Given the description of an element on the screen output the (x, y) to click on. 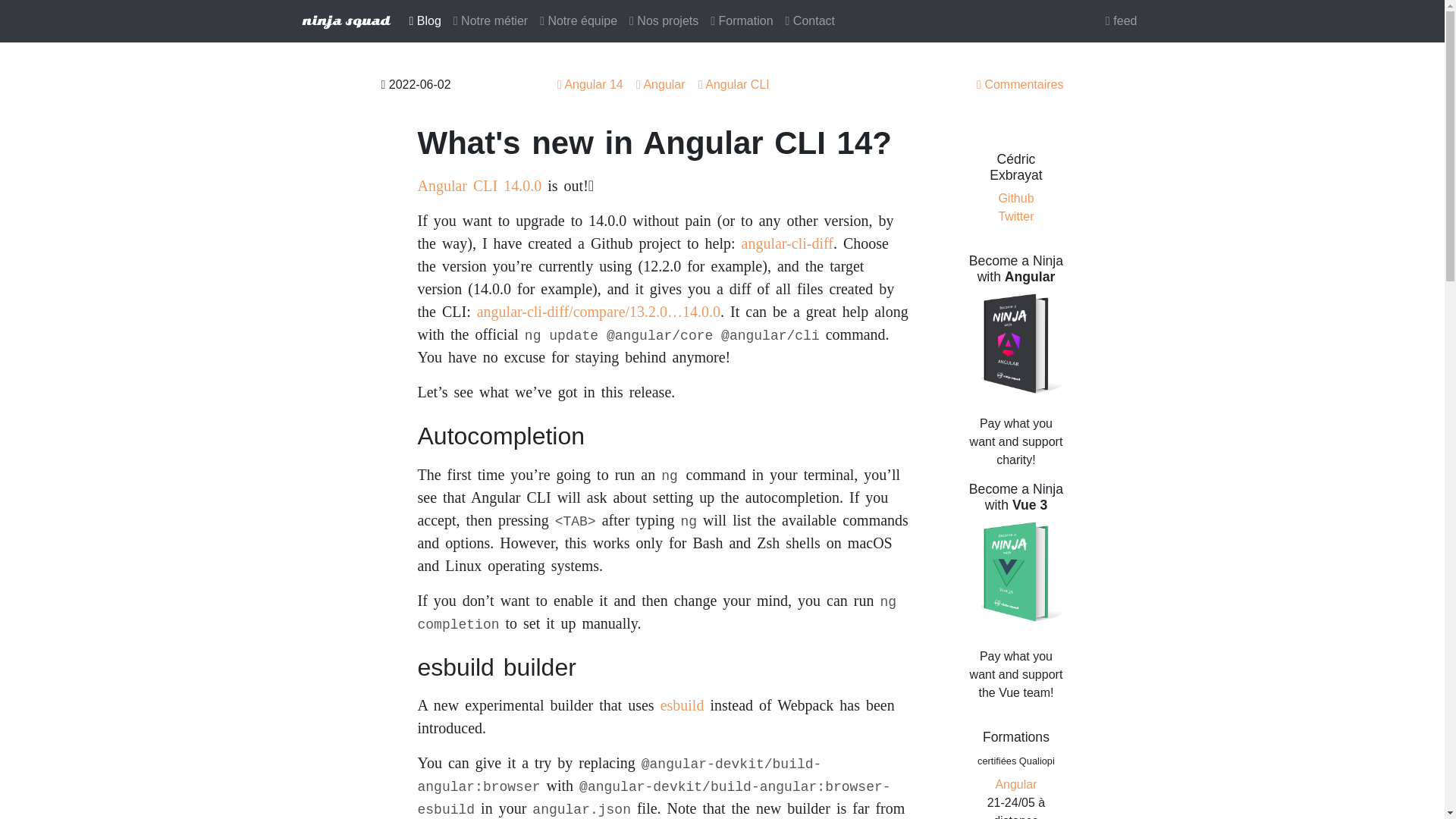
Atom feed (1120, 20)
 Angular CLI (734, 83)
angular-cli-diff (786, 243)
Formation (741, 20)
Logo Ninja Squad (346, 22)
Angular (1015, 784)
Contact (809, 20)
Twitter (1015, 215)
Angular CLI 14.0.0 (478, 185)
Become a Ninja with Vue (1015, 573)
